Given the description of an element on the screen output the (x, y) to click on. 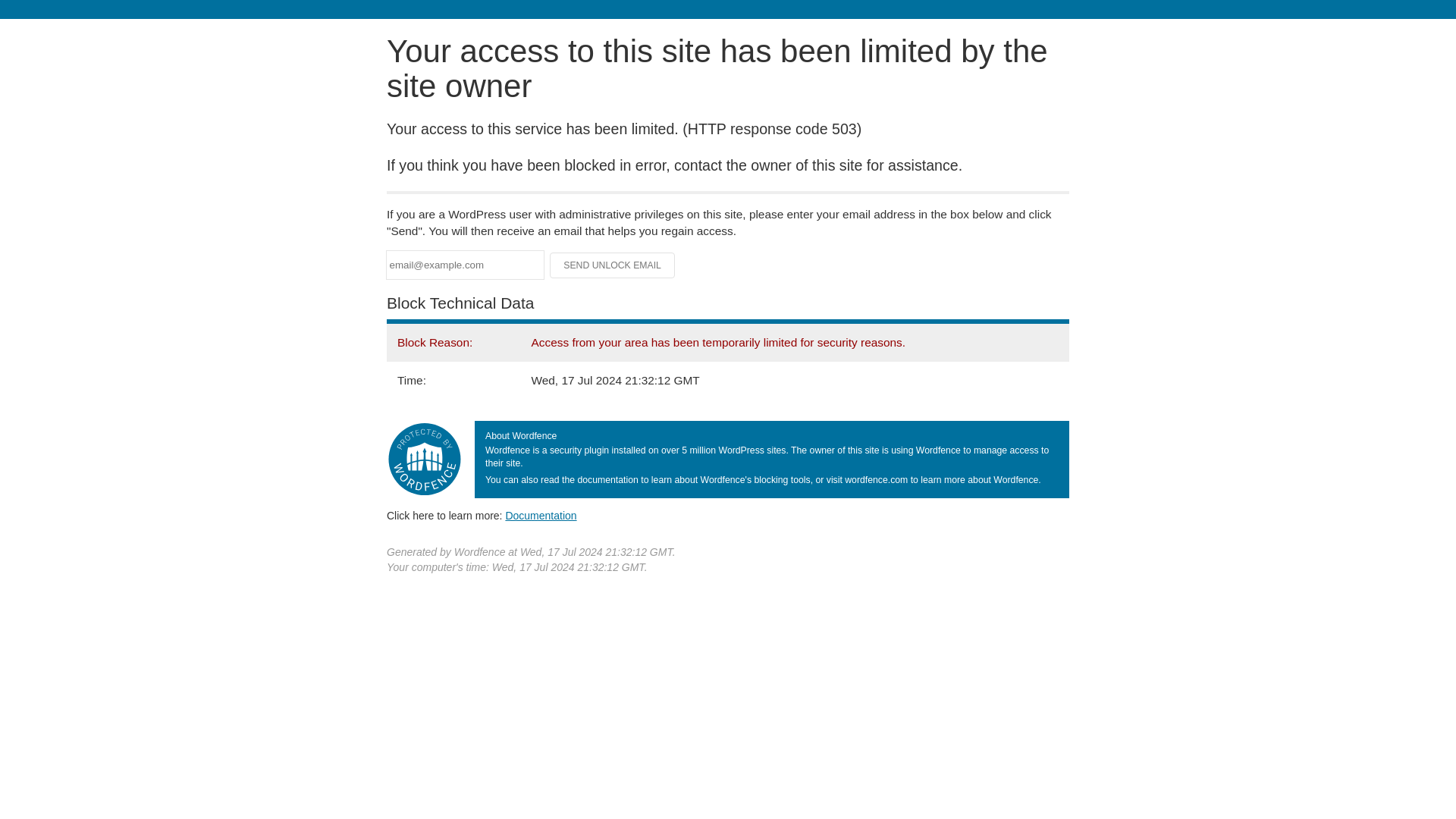
Documentation (540, 515)
Send Unlock Email (612, 265)
Send Unlock Email (612, 265)
